Given the description of an element on the screen output the (x, y) to click on. 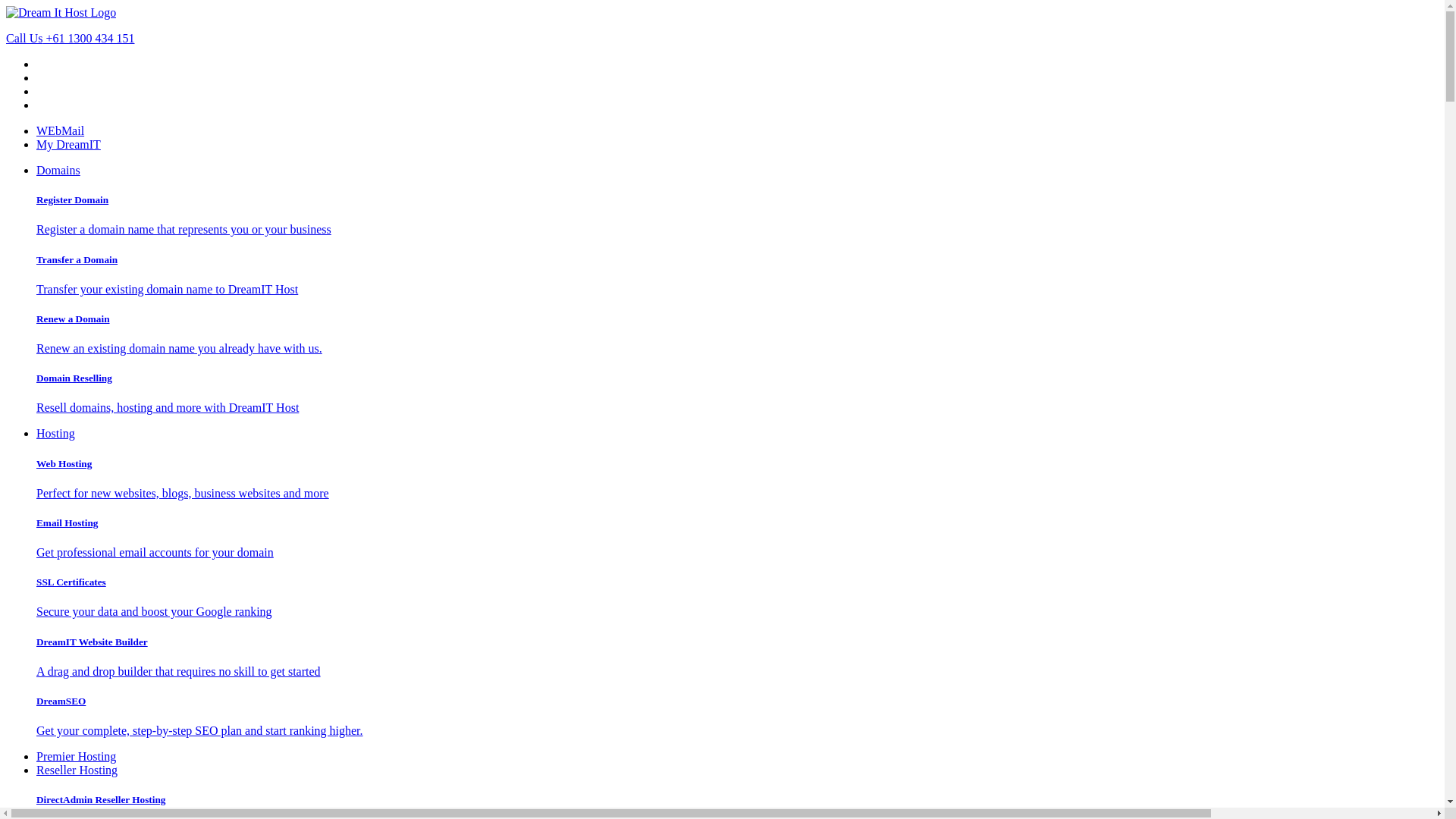
Premier Hosting Element type: text (76, 755)
Call Us +61 1300 434 151 Element type: text (722, 38)
Domains Element type: text (58, 169)
Reseller Hosting Element type: text (76, 769)
Hosting Element type: text (55, 432)
WEbMail Element type: text (60, 130)
My DreamIT Element type: text (68, 144)
